Given the description of an element on the screen output the (x, y) to click on. 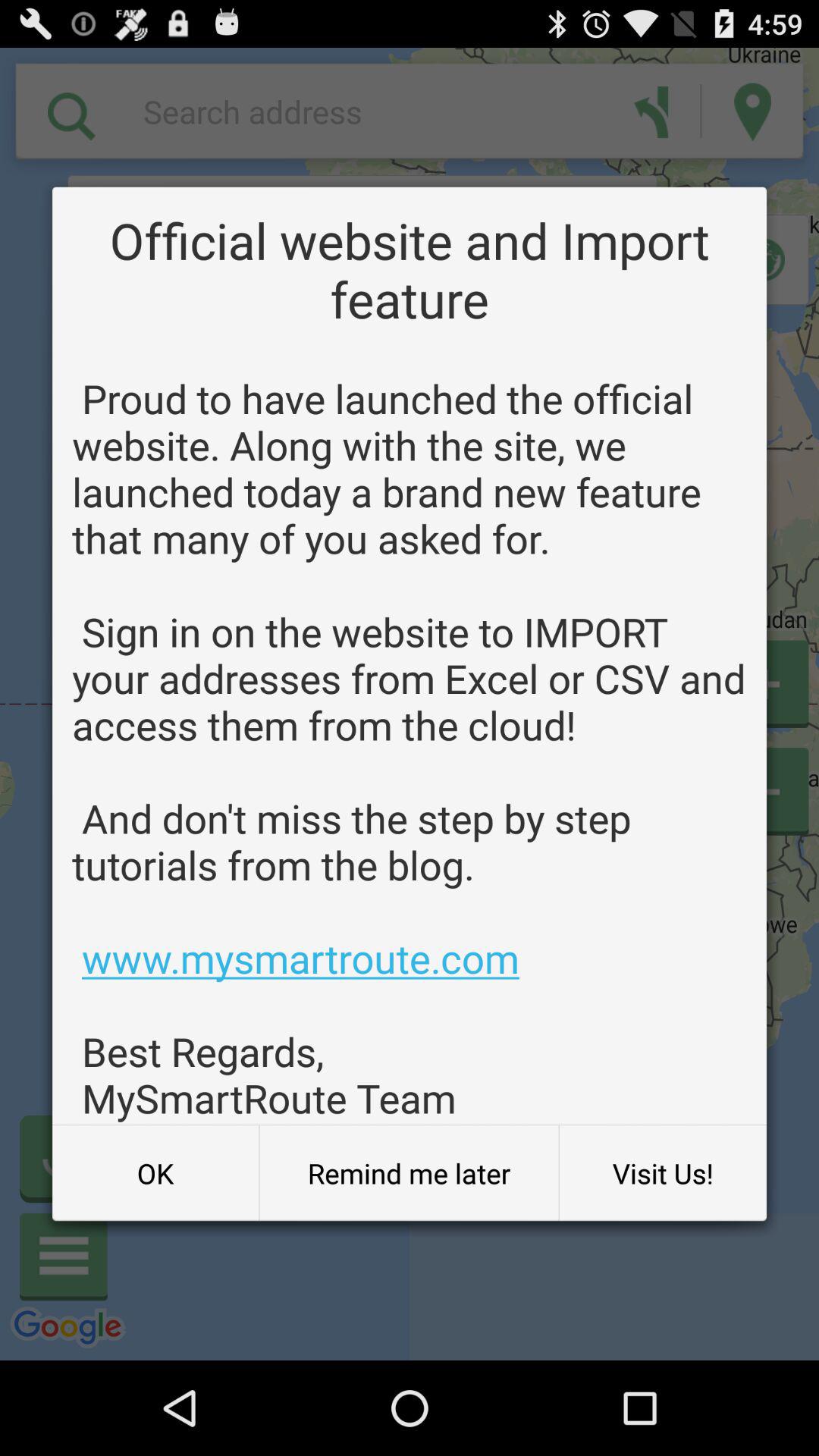
launch icon next to remind me later button (662, 1173)
